Given the description of an element on the screen output the (x, y) to click on. 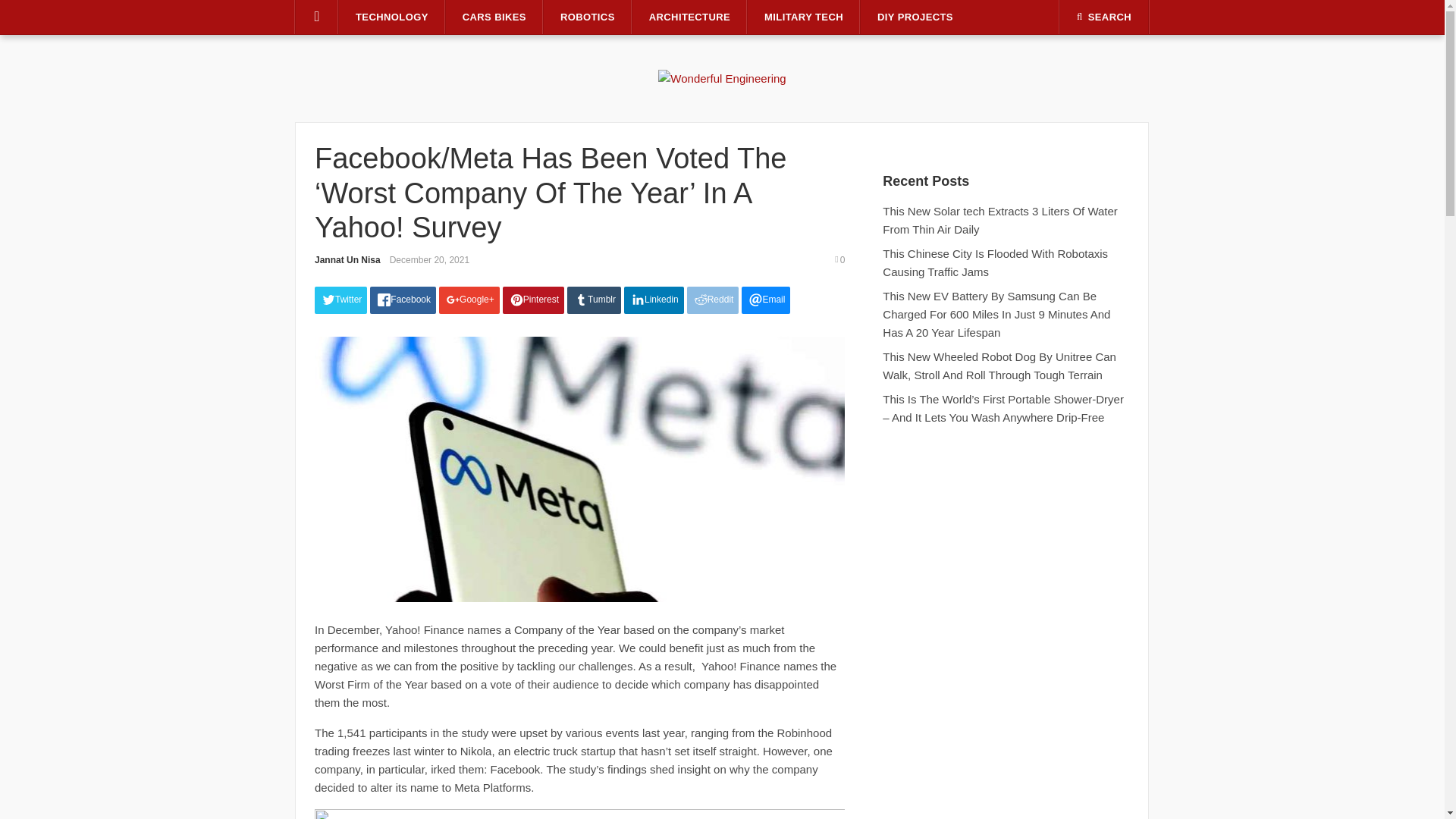
SEARCH (1104, 16)
Pinterest (533, 299)
Jannat Un Nisa (347, 259)
CARS BIKES (494, 17)
Reddit (713, 299)
Twitter (340, 299)
Tumblr (594, 299)
Email (765, 299)
ROBOTICS (587, 17)
ARCHITECTURE (688, 17)
